Given the description of an element on the screen output the (x, y) to click on. 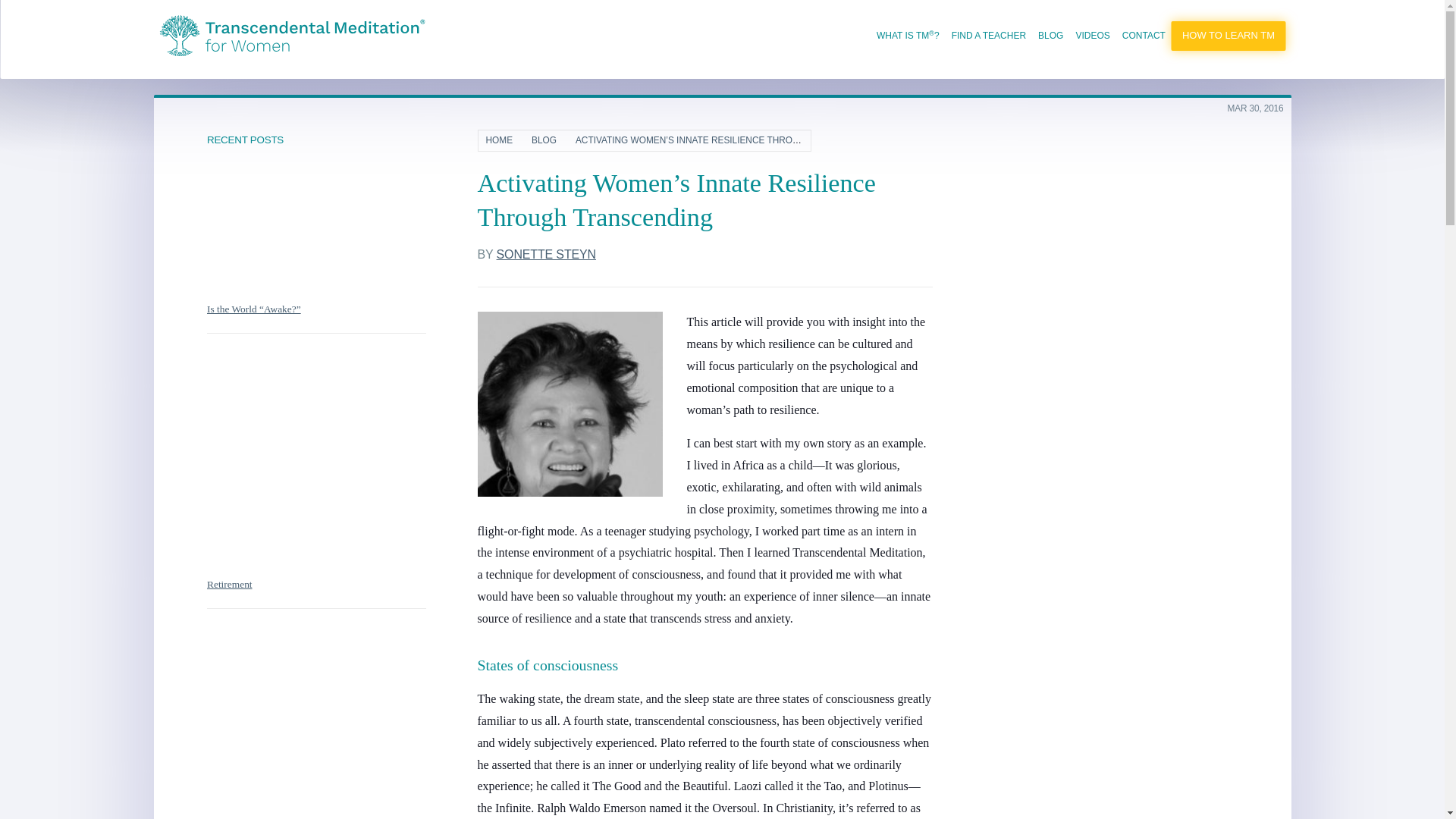
CONTACT (1144, 35)
SONETTE STEYN (545, 254)
HOME (504, 140)
BLOG (1050, 35)
Retirement (228, 583)
VIDEOS (1091, 35)
BLOG (550, 140)
FIND A TEACHER (988, 35)
HOW TO LEARN TM (1228, 35)
